Given the description of an element on the screen output the (x, y) to click on. 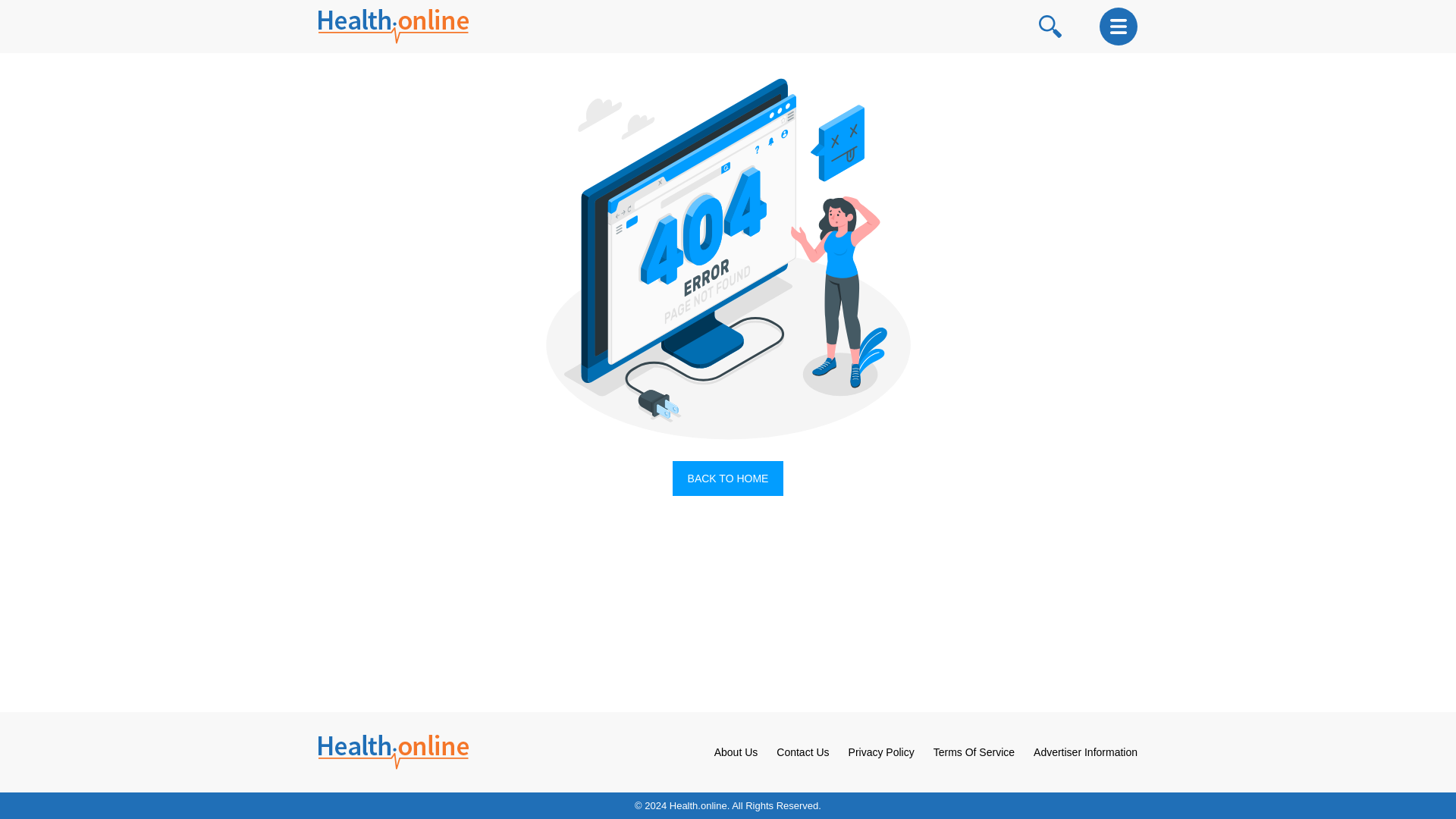
BACK TO HOME (728, 478)
Contact Us (802, 752)
Advertiser Information (1085, 752)
About Us (736, 752)
Privacy Policy (881, 752)
Terms Of Service (973, 752)
